Given the description of an element on the screen output the (x, y) to click on. 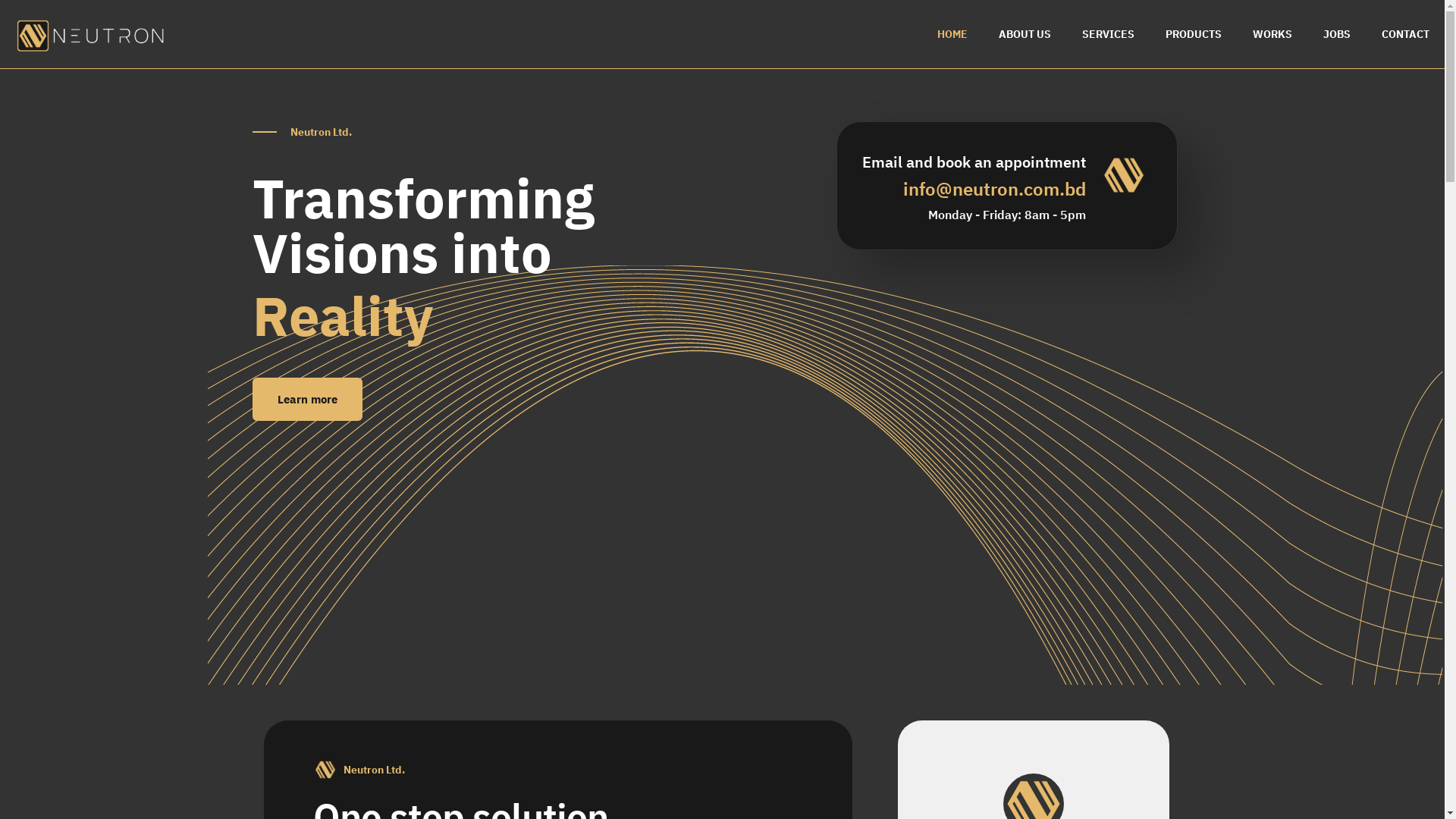
PRODUCTS Element type: text (1193, 34)
WORKS Element type: text (1272, 34)
Learn more Element type: text (307, 398)
Neutron Element type: hover (90, 34)
info@neutron.com.bd Element type: text (994, 188)
HOME Element type: text (952, 34)
CONTACT Element type: text (1405, 34)
JOBS Element type: text (1337, 34)
ABOUT US Element type: text (1024, 34)
SERVICES Element type: text (1108, 34)
